Given the description of an element on the screen output the (x, y) to click on. 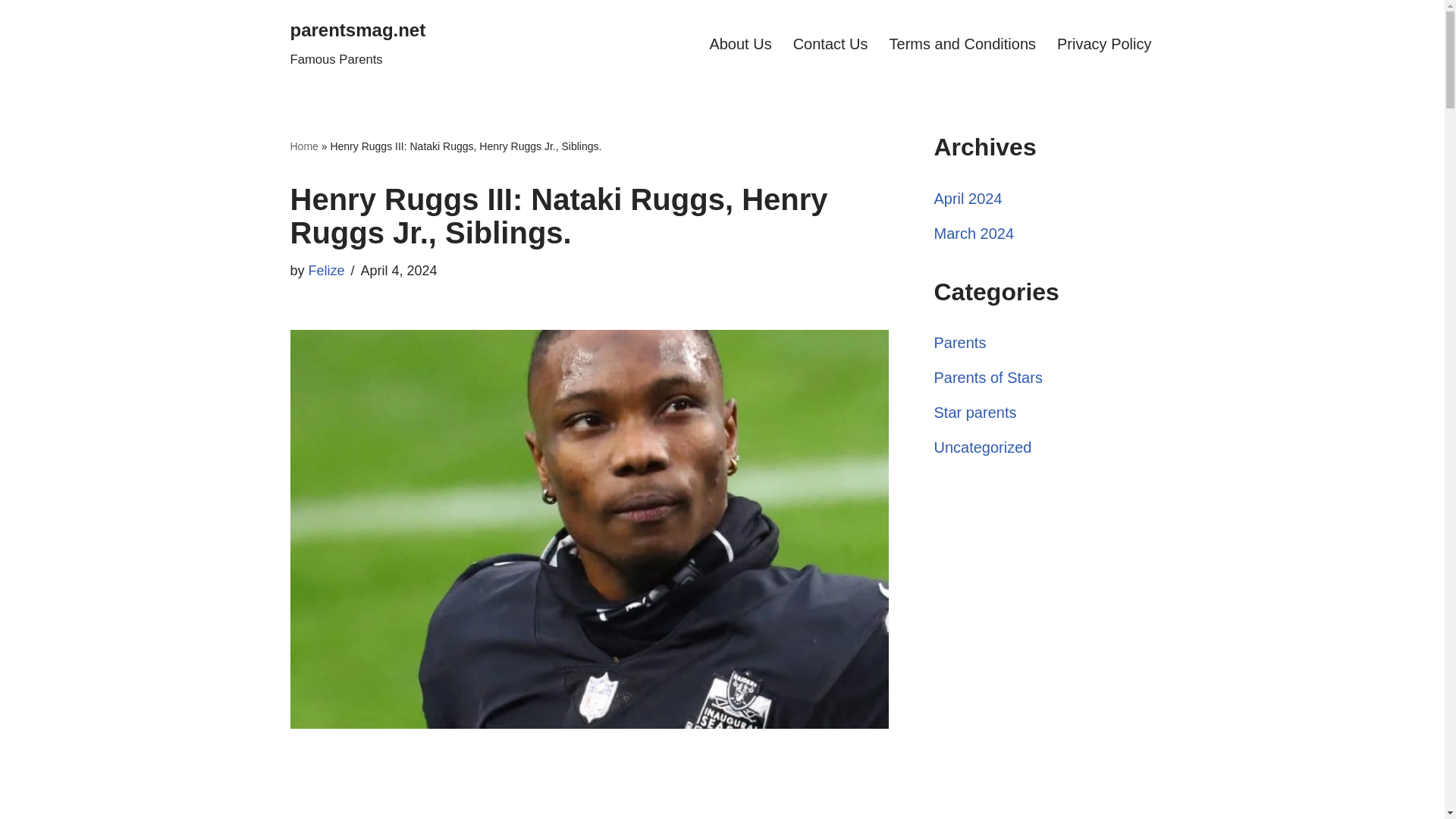
Felize (326, 270)
Advertisement (588, 800)
Star parents (975, 412)
Privacy Policy (1104, 43)
April 2024 (968, 198)
Skip to content (11, 31)
Home (303, 146)
Contact Us (830, 43)
Uncategorized (983, 446)
Posts by Felize (326, 270)
